Given the description of an element on the screen output the (x, y) to click on. 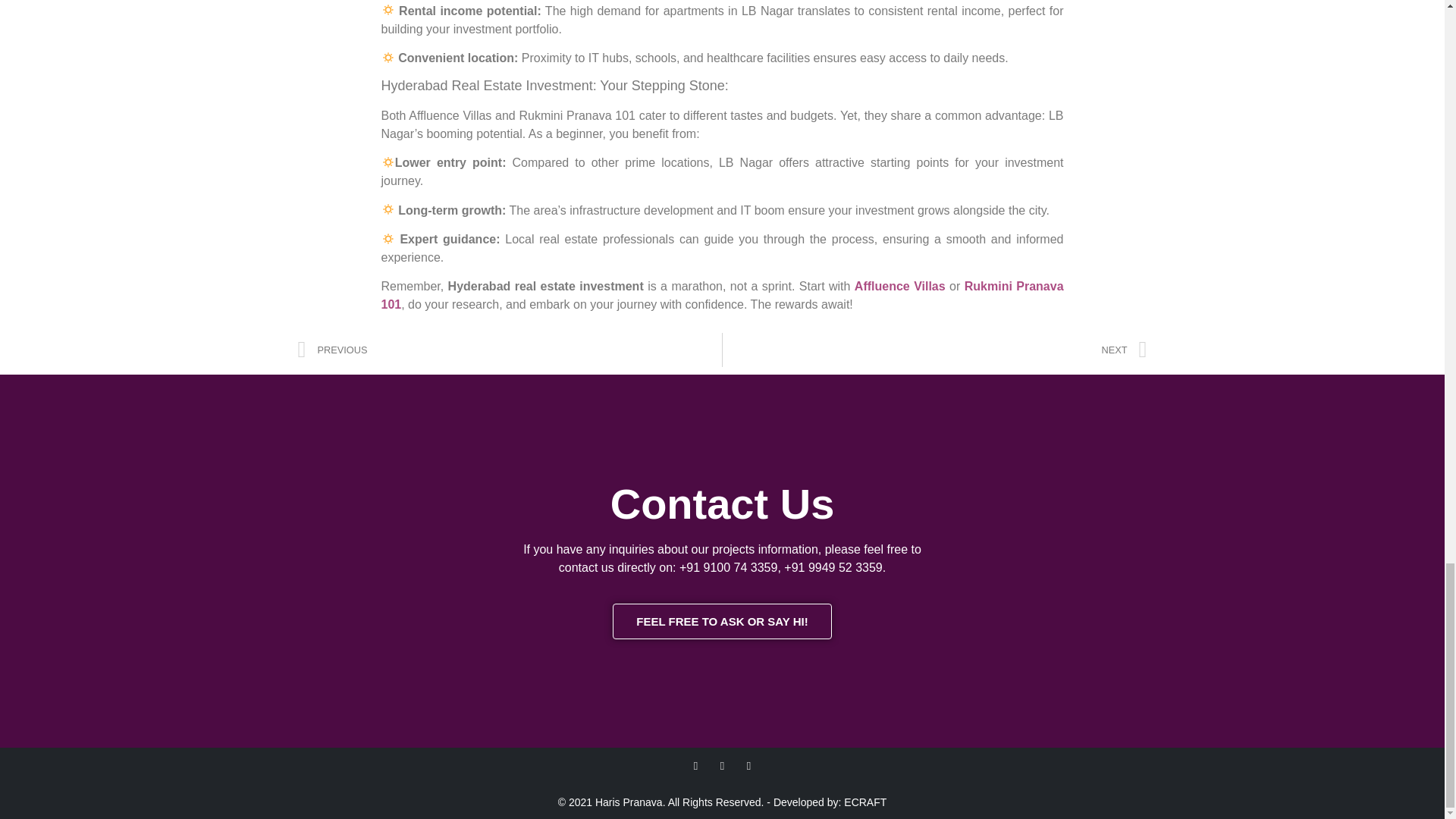
Rukmini Pranava 101 (721, 295)
FEEL FREE TO ASK OR SAY HI! (721, 621)
PREVIOUS (509, 349)
Affluence Villas (901, 286)
ECRAFT (865, 802)
NEXT (934, 349)
